Given the description of an element on the screen output the (x, y) to click on. 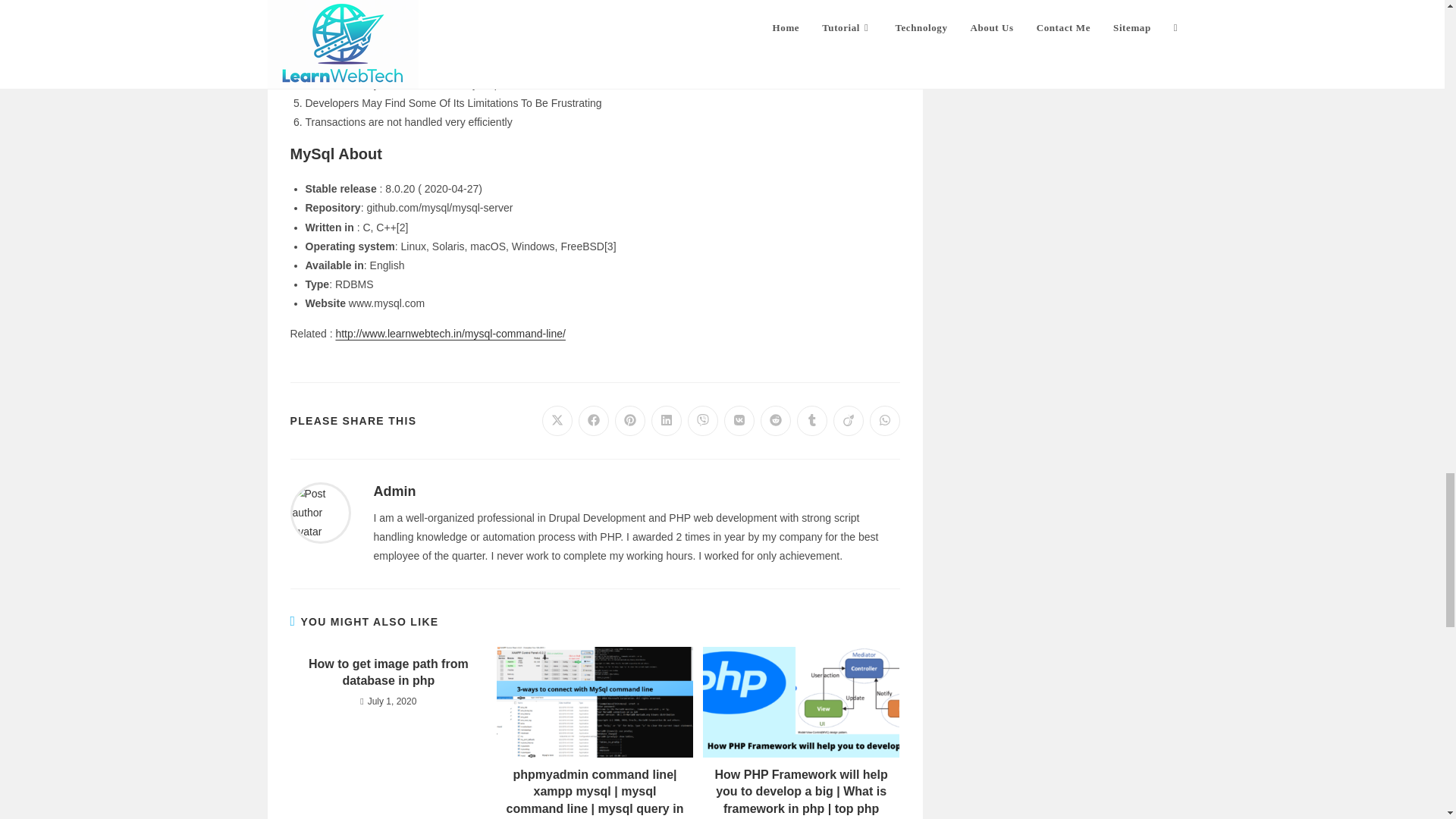
Visit author page (393, 491)
Visit author page (319, 511)
Opens in a new window (556, 420)
